Given the description of an element on the screen output the (x, y) to click on. 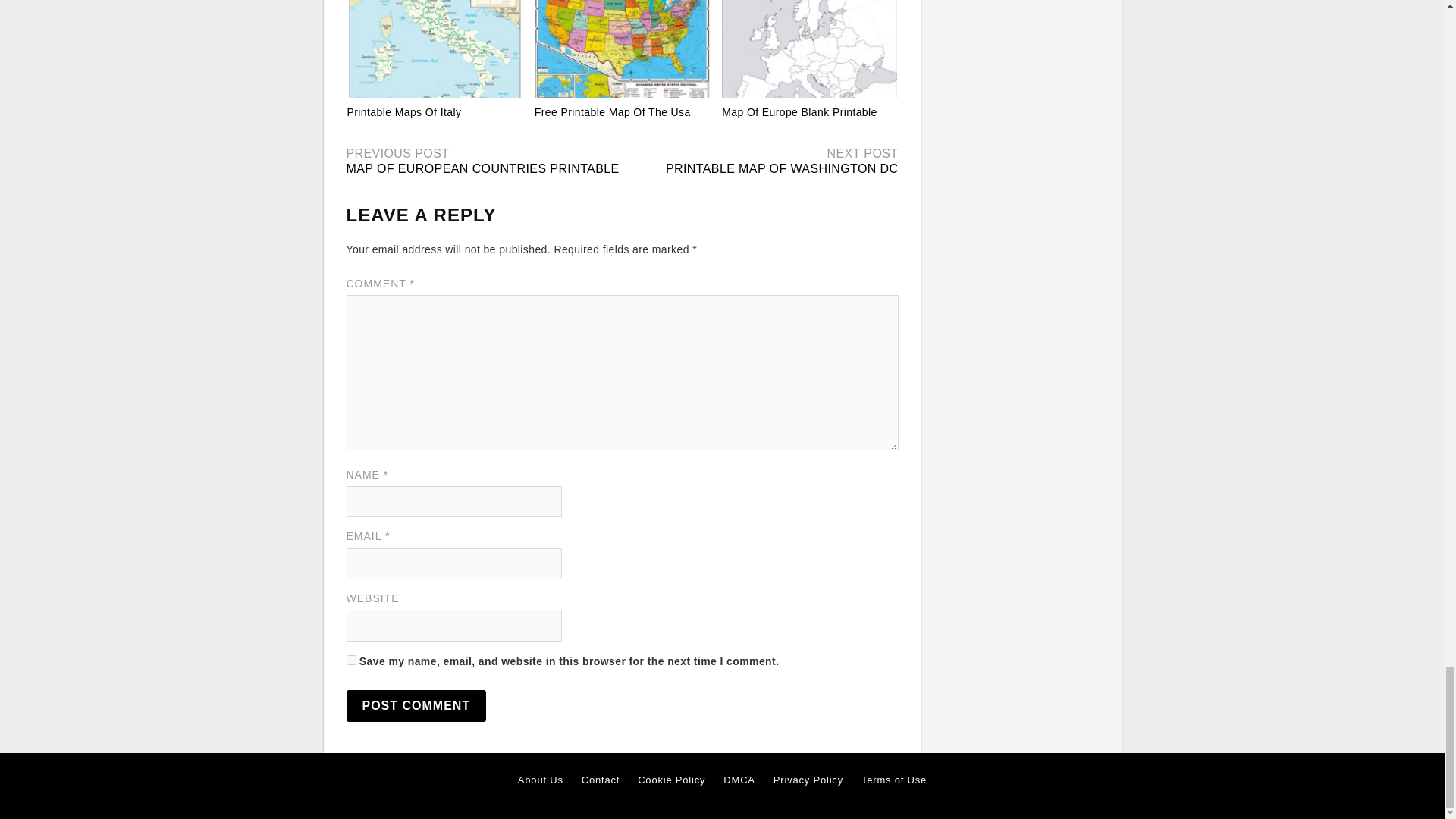
Post Comment (416, 705)
yes (350, 660)
